Given the description of an element on the screen output the (x, y) to click on. 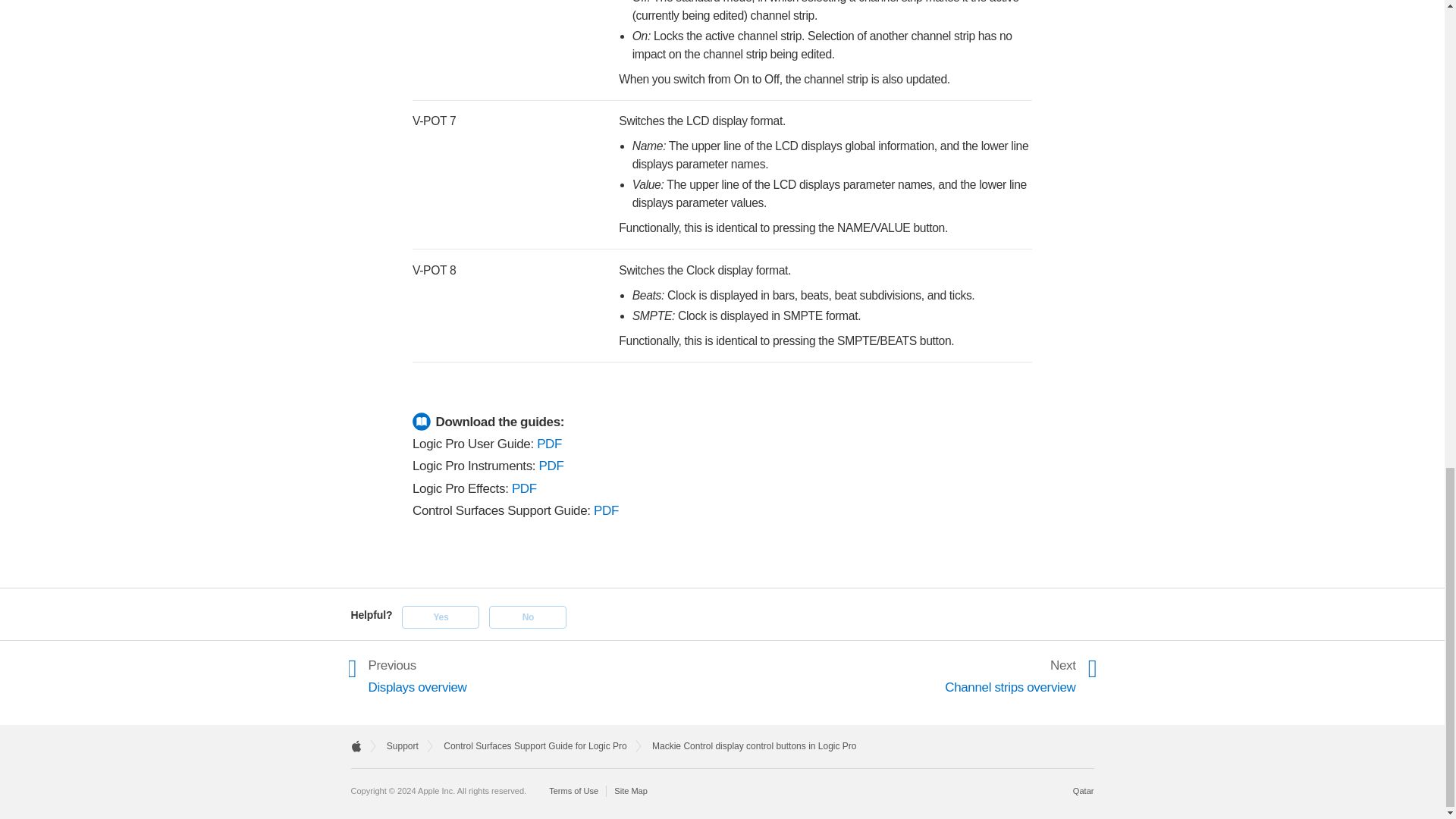
Not helpful (527, 617)
Choose your country or region (1083, 790)
Solved my problem (440, 617)
